Given the description of an element on the screen output the (x, y) to click on. 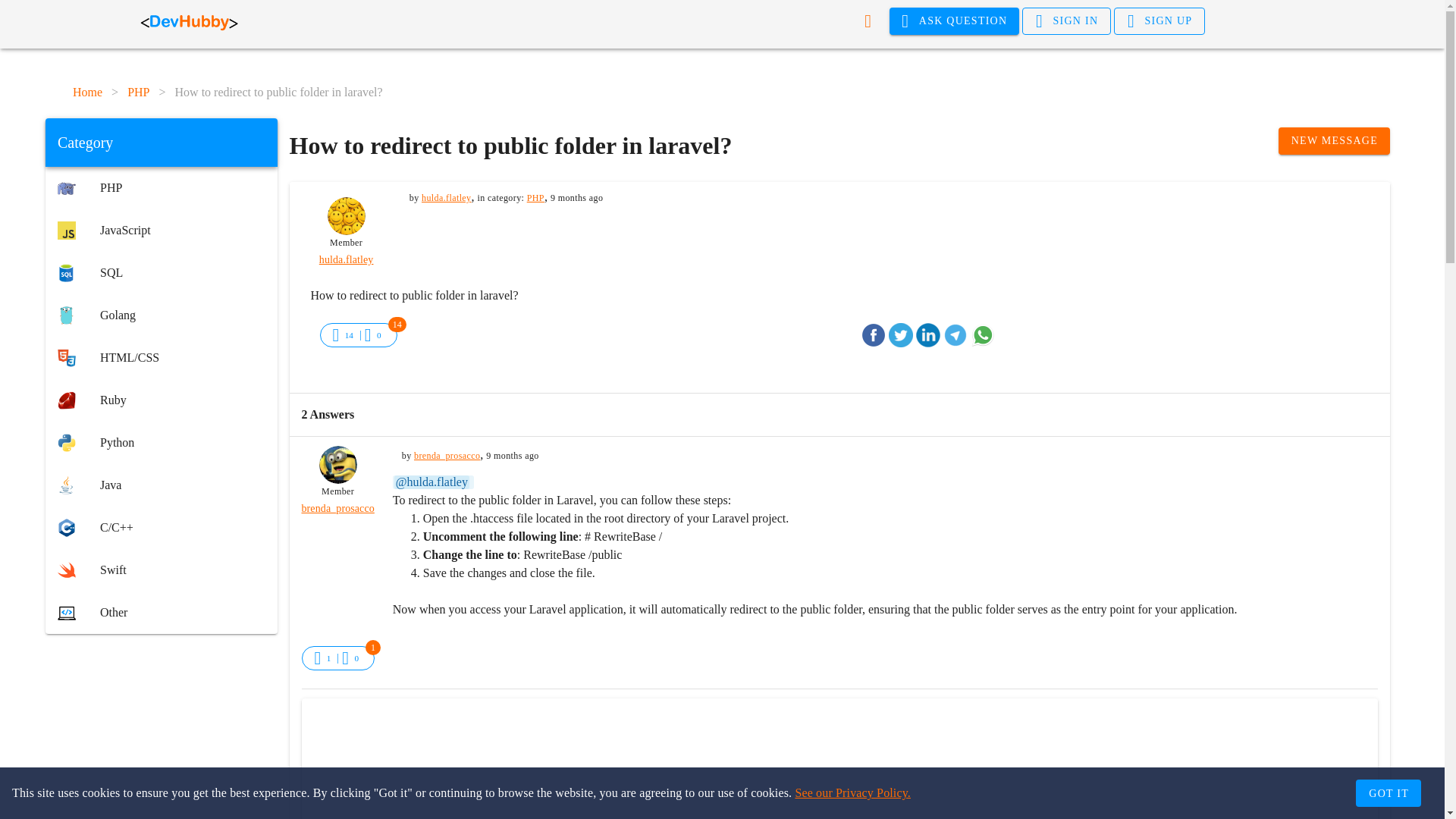
Advertisement (839, 763)
JavaScript (161, 230)
NEW MESSAGE (1334, 140)
Python (161, 442)
PHP (161, 188)
Swift (161, 569)
SIGN UP (1159, 21)
Golang (161, 315)
14 likes (349, 334)
Telegram (955, 334)
ASK QUESTION (954, 21)
Ruby (161, 400)
Whatsapp (982, 334)
SQL (161, 272)
Advertisement (160, 732)
